Given the description of an element on the screen output the (x, y) to click on. 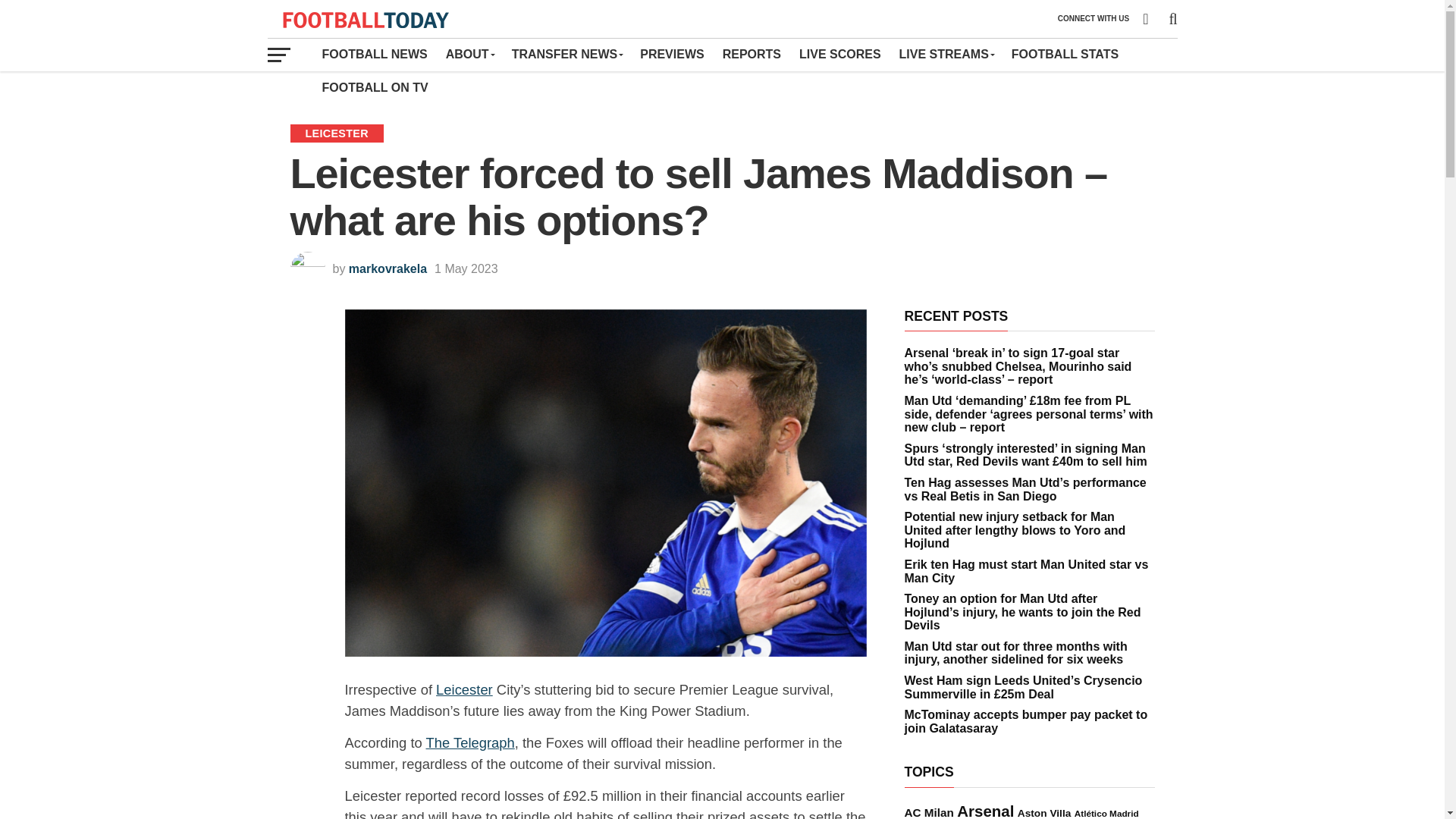
FOOTBALL NEWS (374, 54)
ABOUT (469, 54)
Posts by markovrakela (387, 268)
